Given the description of an element on the screen output the (x, y) to click on. 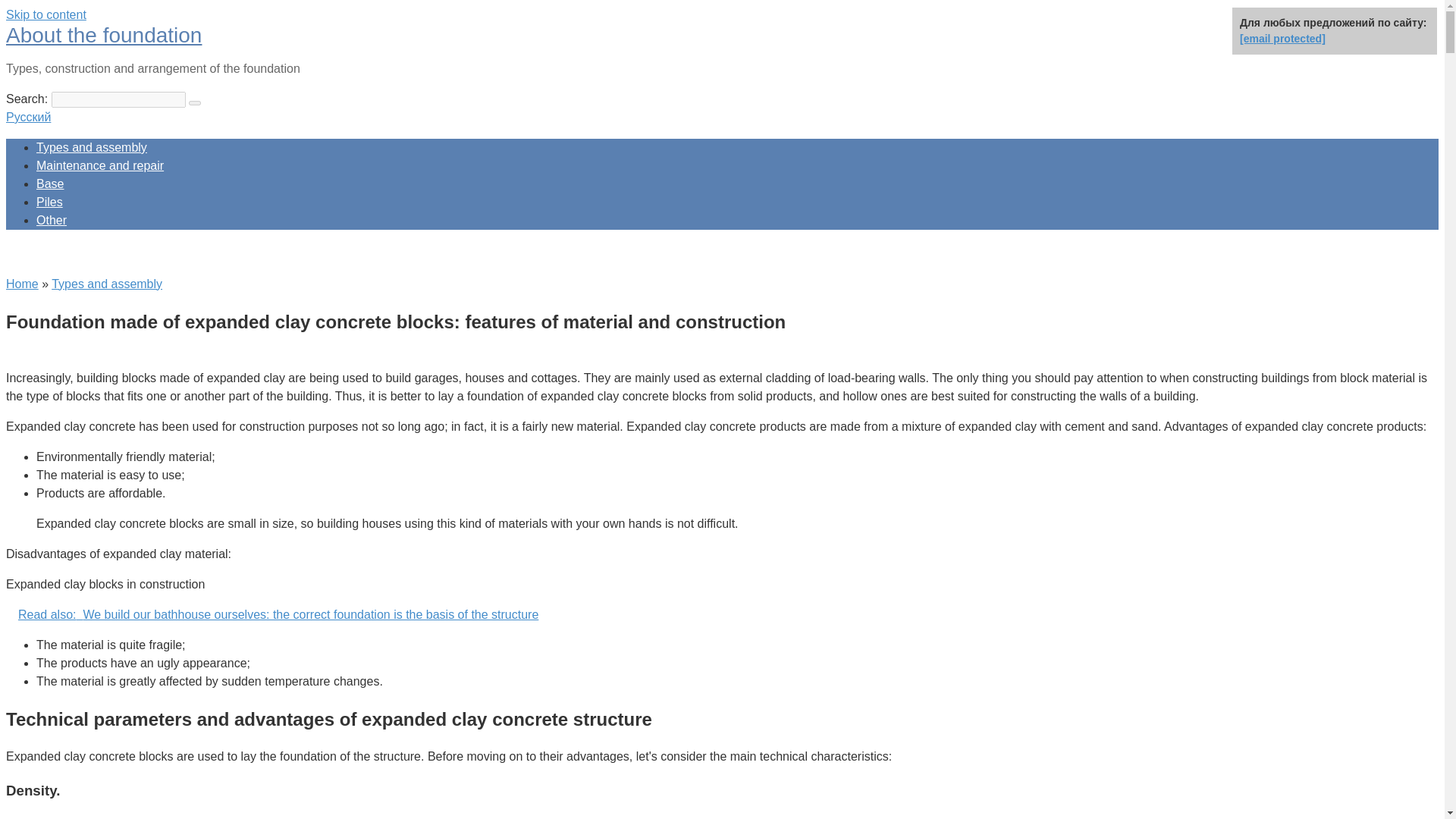
Home (22, 283)
Piles (49, 201)
Types and assembly (105, 283)
Maintenance and repair (99, 164)
Skip to content (45, 14)
Other (51, 219)
Types and assembly (91, 146)
Base (50, 183)
About the foundation (103, 34)
